Given the description of an element on the screen output the (x, y) to click on. 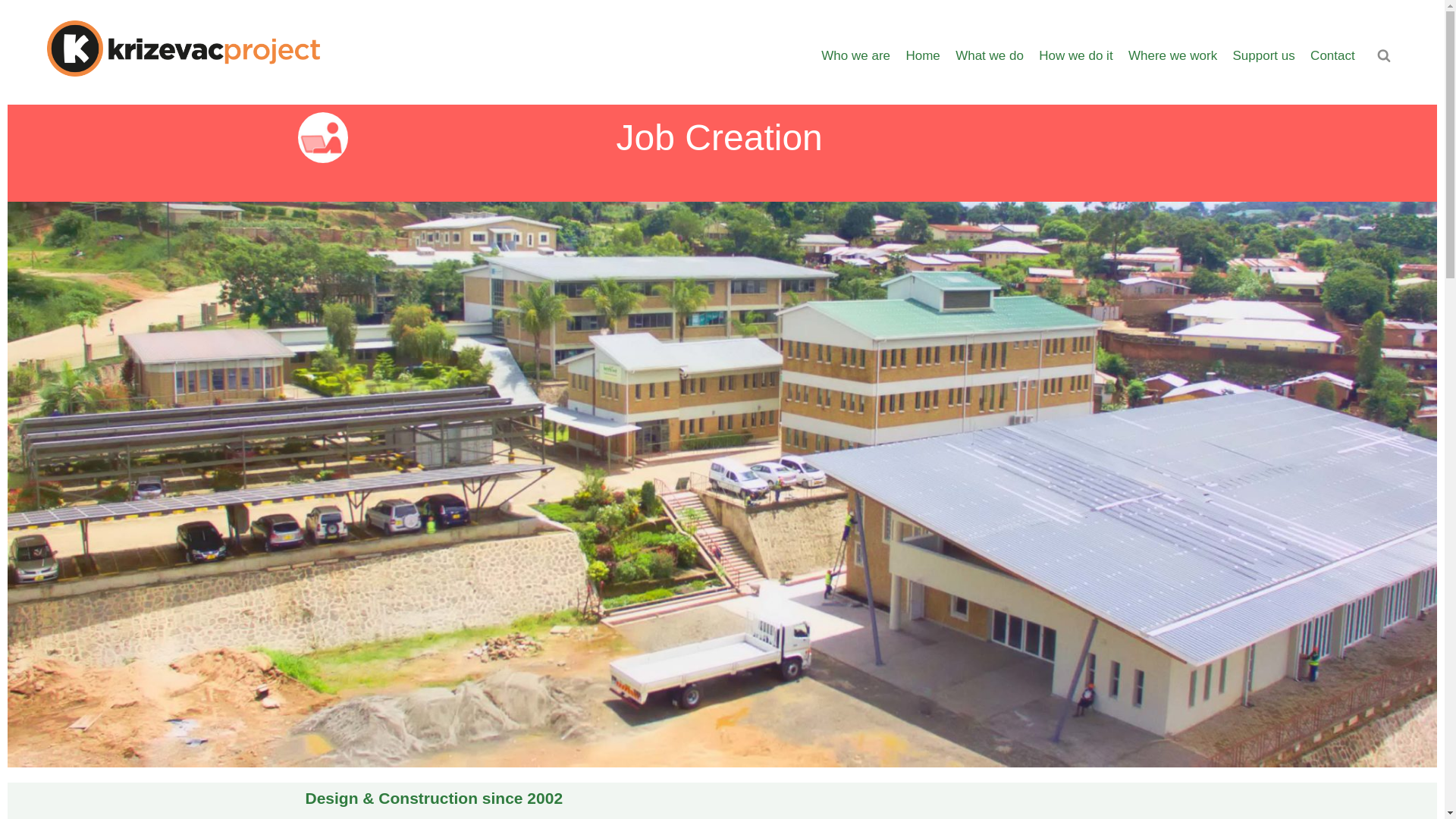
How we do it (1075, 55)
Home (922, 55)
Where we work (1173, 55)
Contact (1332, 55)
Who we are (855, 55)
Support us (1263, 55)
What we do (988, 55)
